Given the description of an element on the screen output the (x, y) to click on. 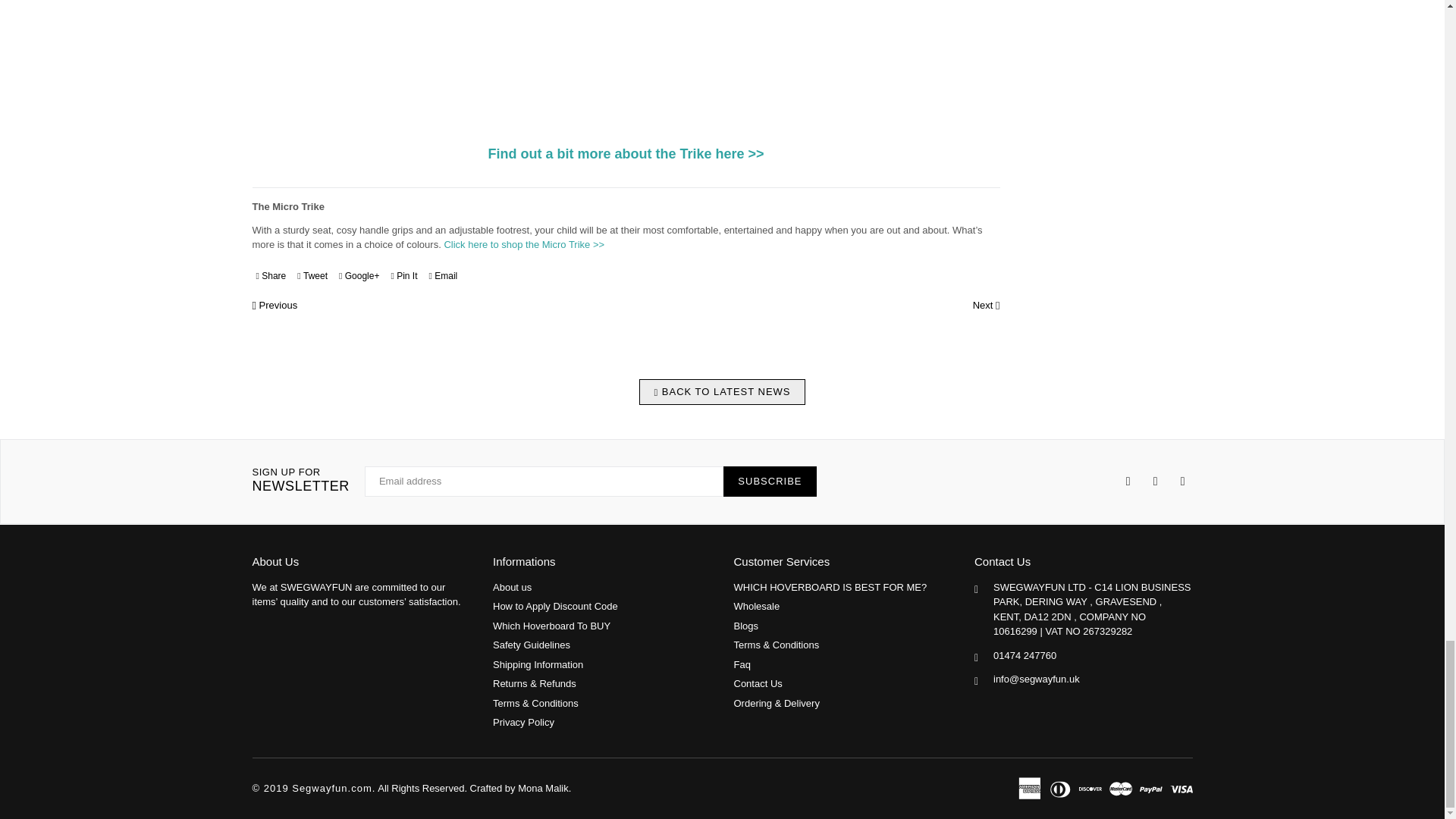
Share by Email (443, 275)
Tweet on Twitter (312, 275)
Share on Facebook (270, 275)
Pin on Pinterest (403, 275)
